Given the description of an element on the screen output the (x, y) to click on. 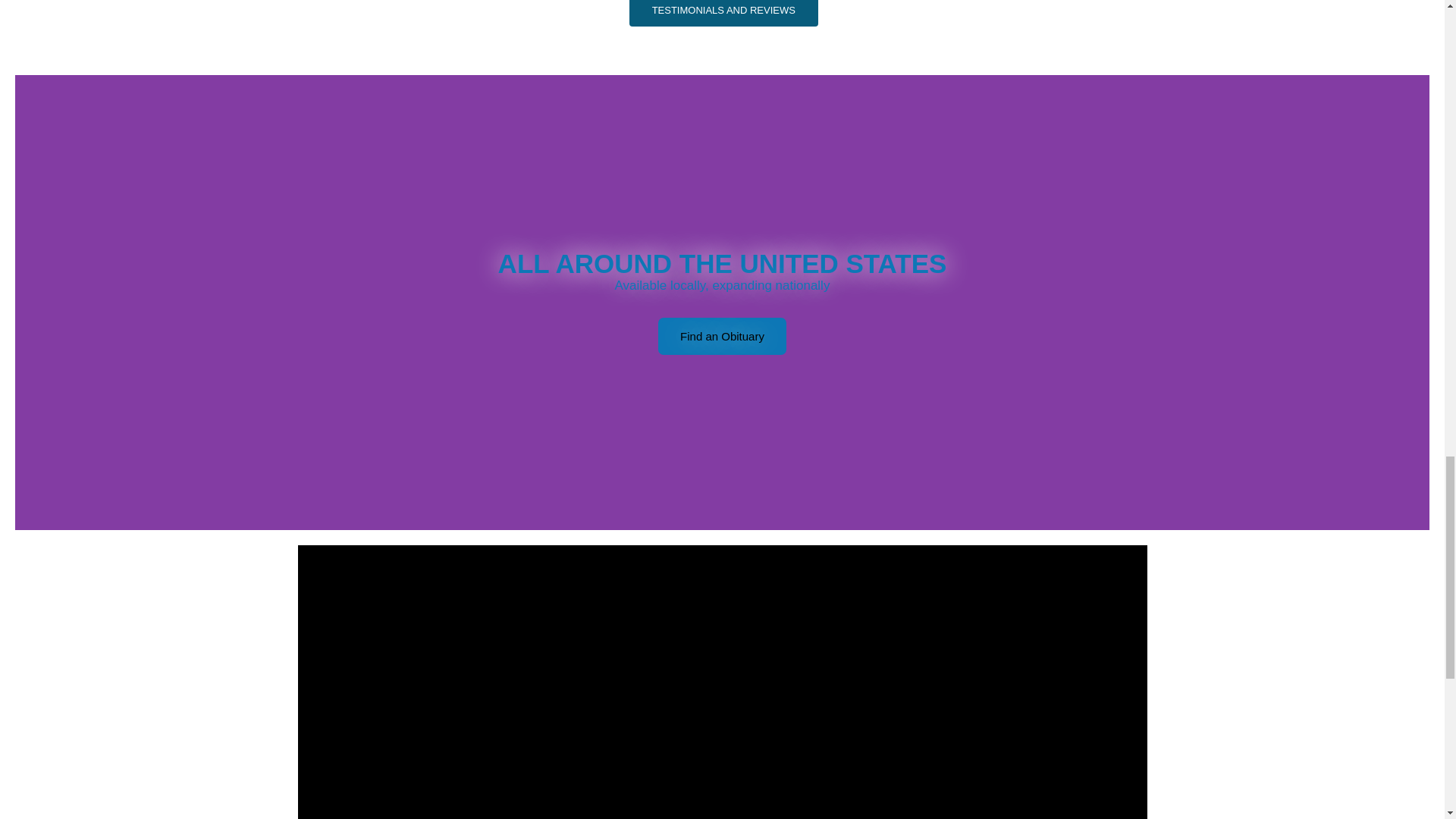
TESTIMONIALS AND REVIEWS (723, 13)
Find an Obituary (722, 335)
